Given the description of an element on the screen output the (x, y) to click on. 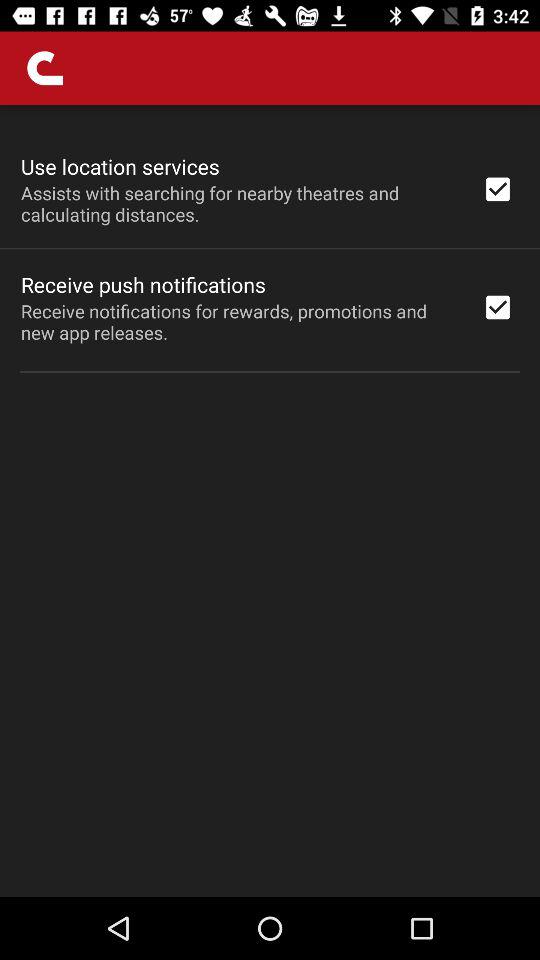
click the icon below the use location services icon (238, 203)
